Given the description of an element on the screen output the (x, y) to click on. 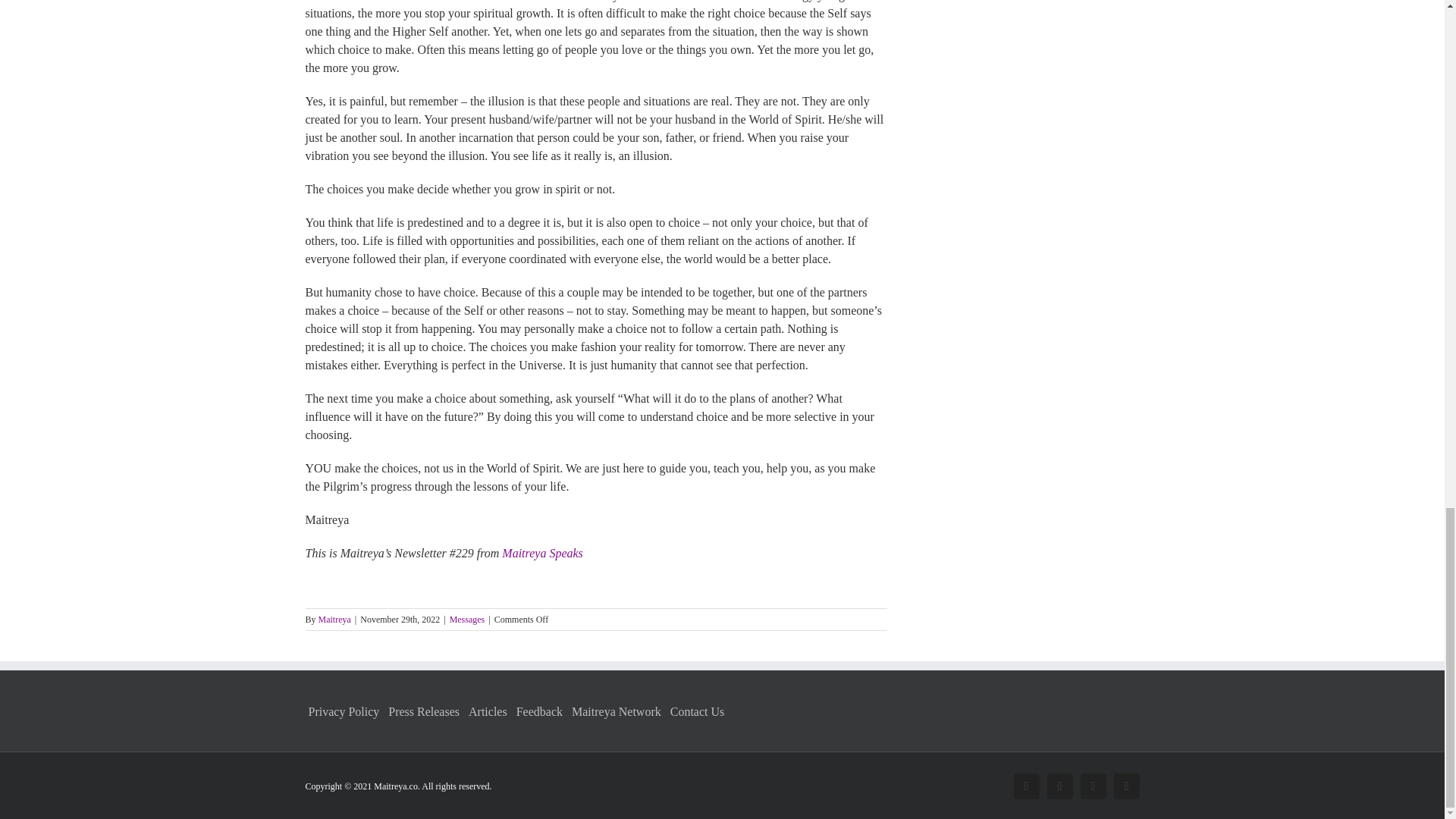
Posts by Maitreya (334, 619)
